Given the description of an element on the screen output the (x, y) to click on. 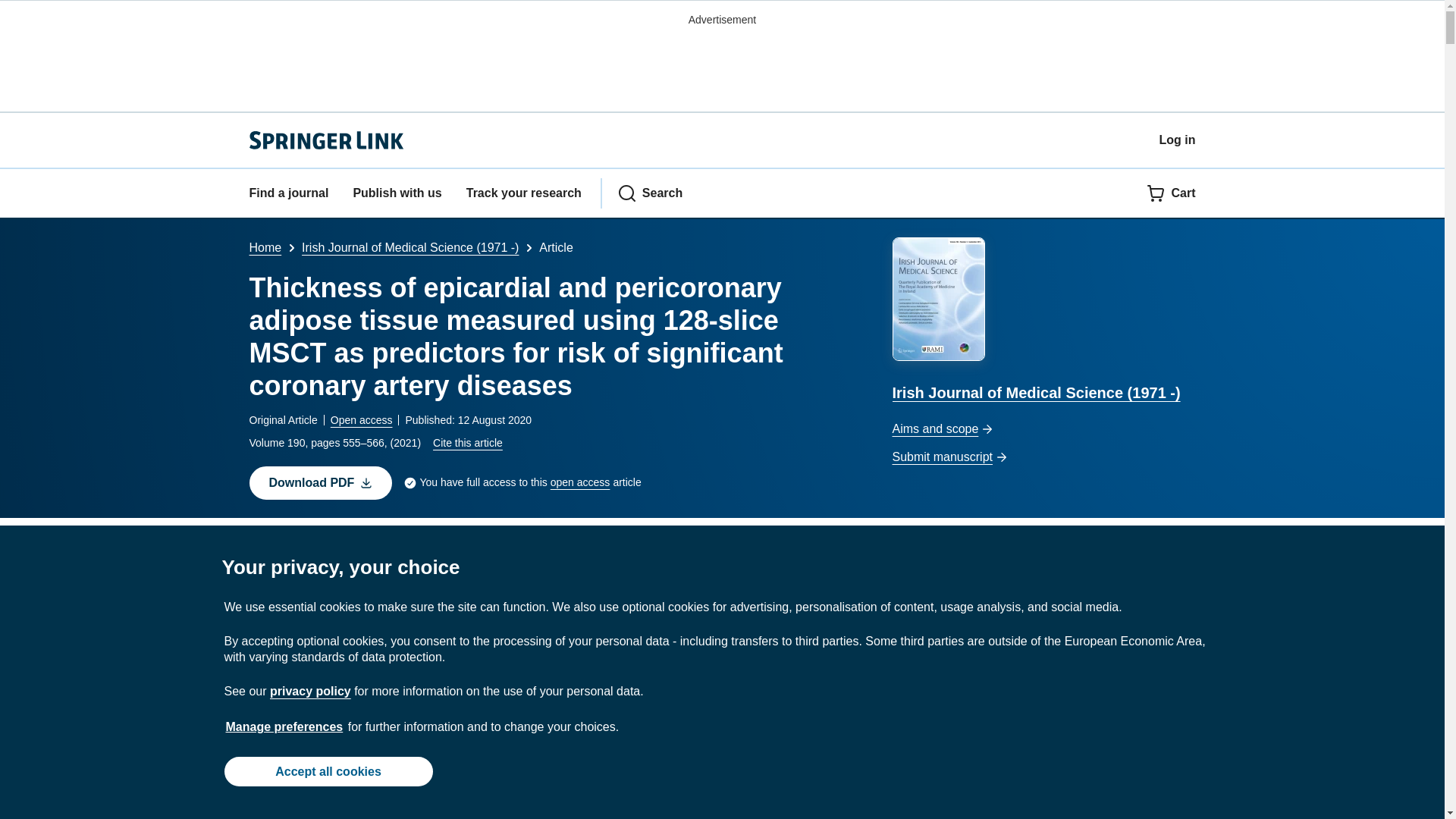
Download PDF (319, 482)
Publish with us (396, 192)
open access (580, 482)
Aims and scope (1043, 429)
Log in (1177, 139)
privacy policy (309, 690)
Cart (1170, 192)
Cite this article (467, 442)
Manage preferences (284, 726)
